Given the description of an element on the screen output the (x, y) to click on. 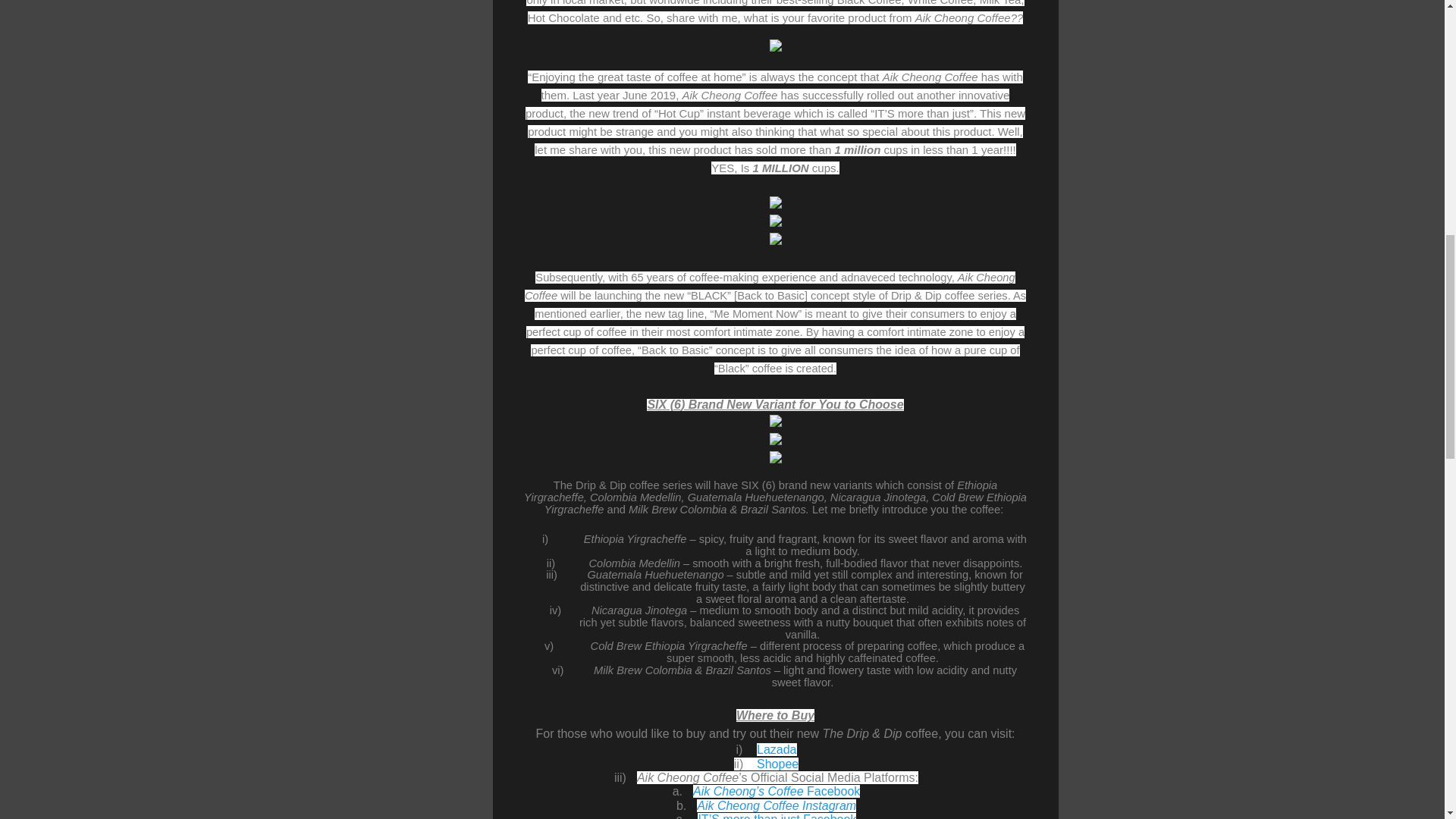
Aik Cheong Coffee Instagram (776, 805)
Lazada (776, 748)
Shopee (776, 763)
